Given the description of an element on the screen output the (x, y) to click on. 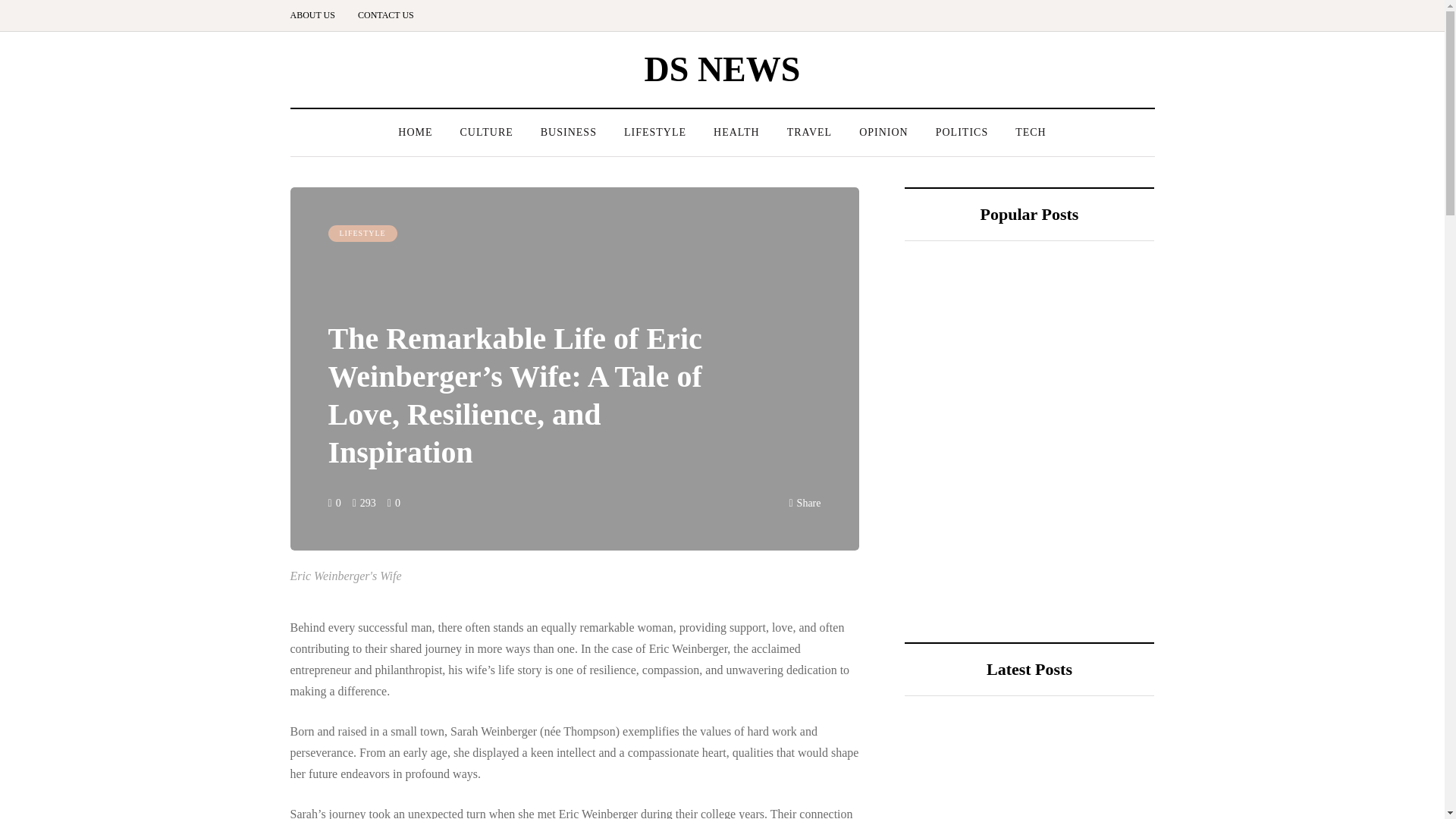
LIFESTYLE (361, 233)
TECH (1030, 132)
LIFESTYLE (655, 132)
CULTURE (485, 132)
DS NEWS (722, 68)
HOME (414, 132)
BUSINESS (568, 132)
OPINION (883, 132)
CONTACT US (385, 15)
TRAVEL (809, 132)
HEALTH (736, 132)
POLITICS (961, 132)
ABOUT US (317, 15)
